Given the description of an element on the screen output the (x, y) to click on. 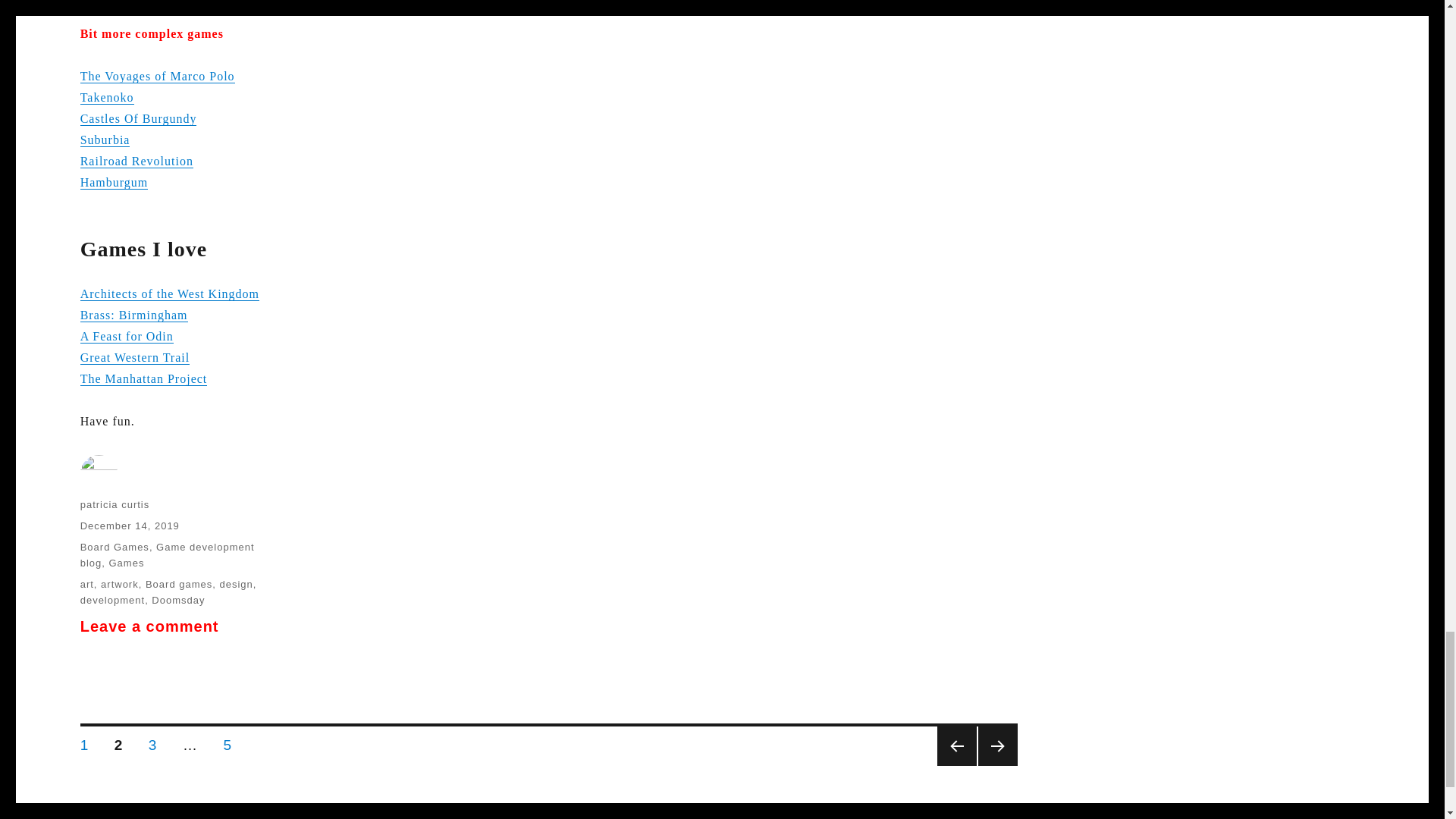
The Manhattan Project (144, 378)
Railroad Revolution (136, 160)
Board Games (114, 546)
Great Western Trail (135, 357)
Architects of the West Kingdom (169, 293)
The Voyages of Marco Polo (157, 75)
Hamburgum (114, 182)
Brass: Birmingham (133, 314)
December 14, 2019 (129, 525)
patricia curtis (114, 504)
Suburbia (105, 139)
Castles Of Burgundy (138, 118)
A Feast for Odin (126, 336)
Takenoko (106, 97)
